Given the description of an element on the screen output the (x, y) to click on. 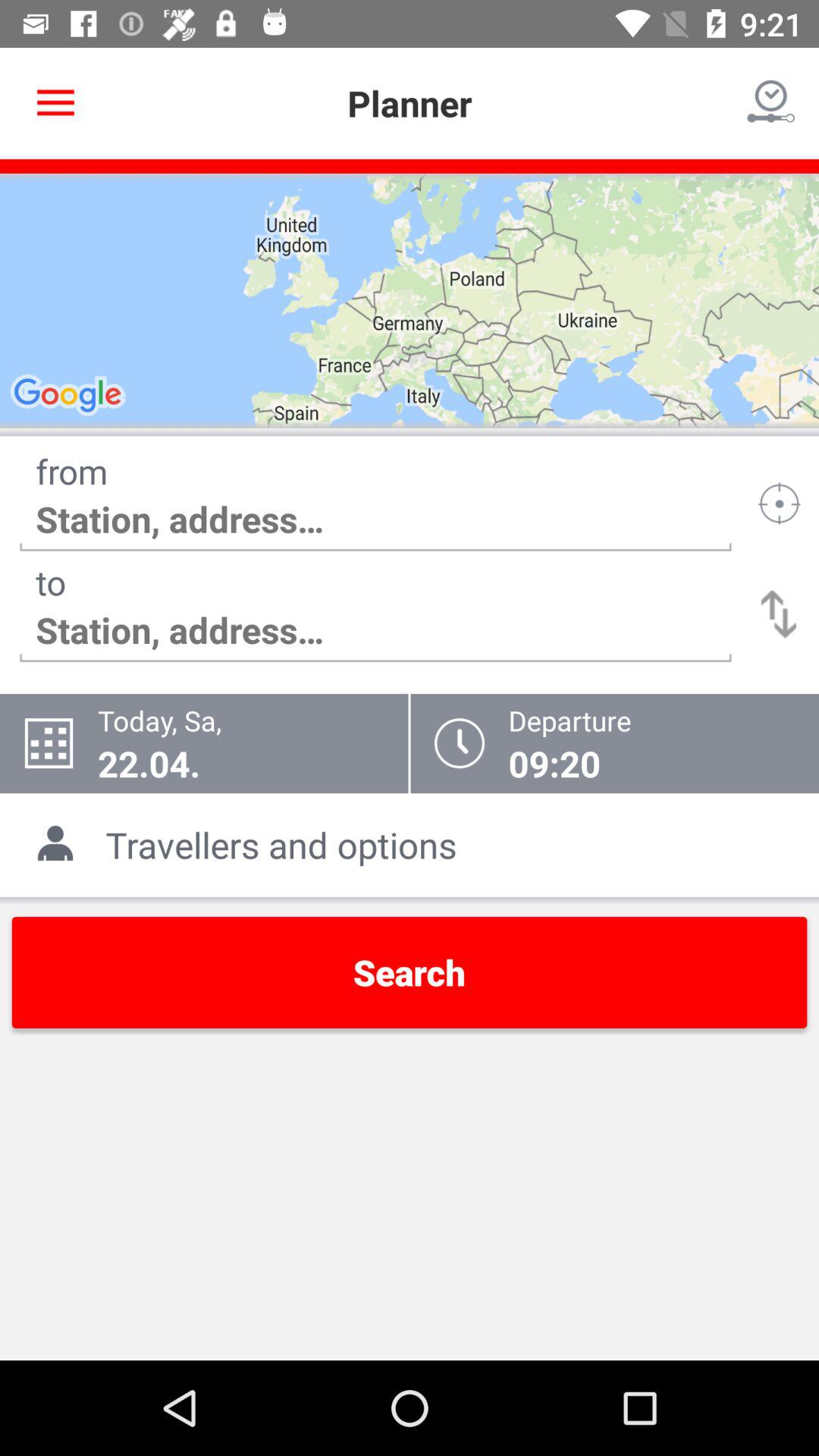
scroll to the search item (409, 972)
